Given the description of an element on the screen output the (x, y) to click on. 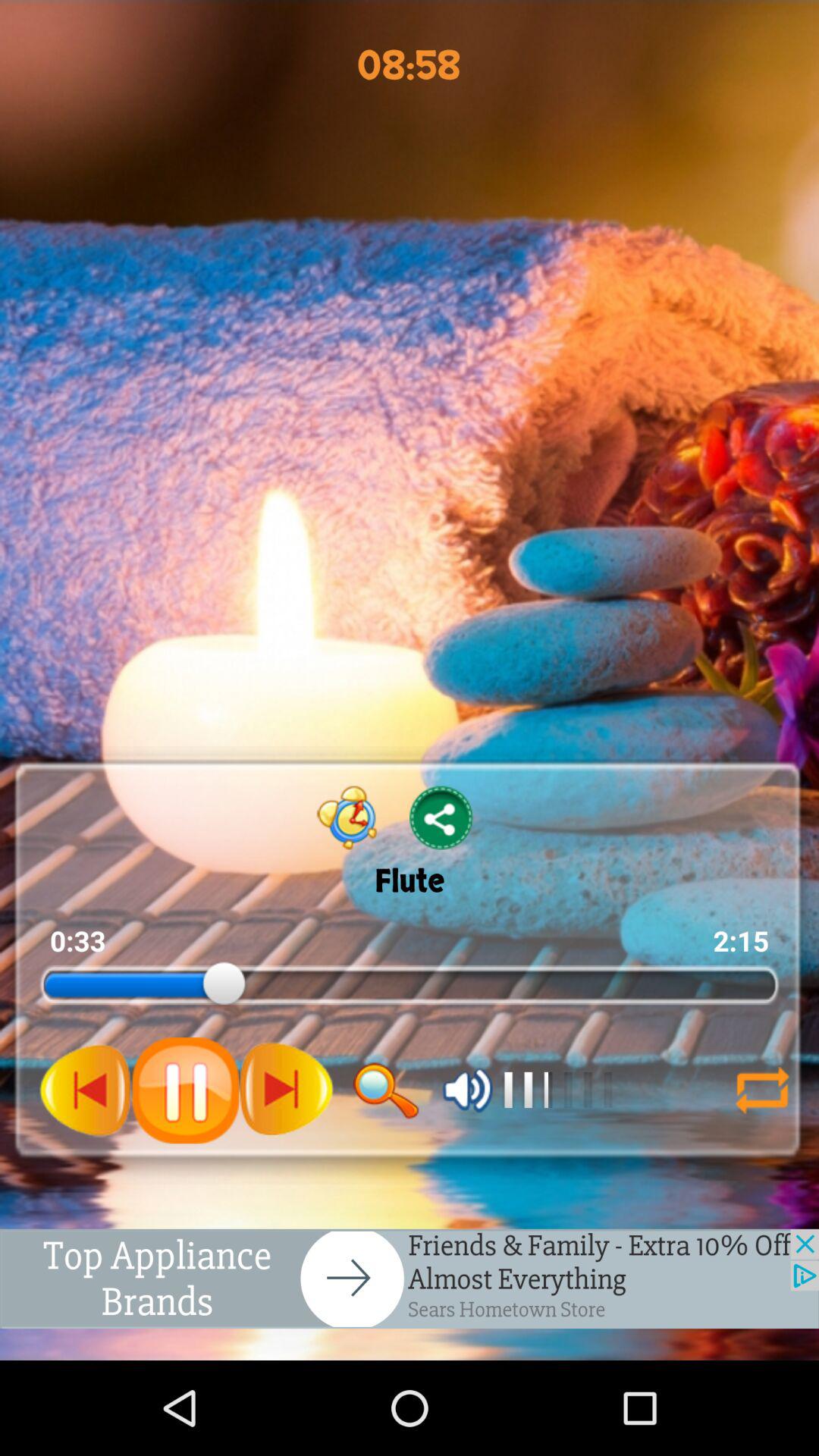
next track (285, 1090)
